Given the description of an element on the screen output the (x, y) to click on. 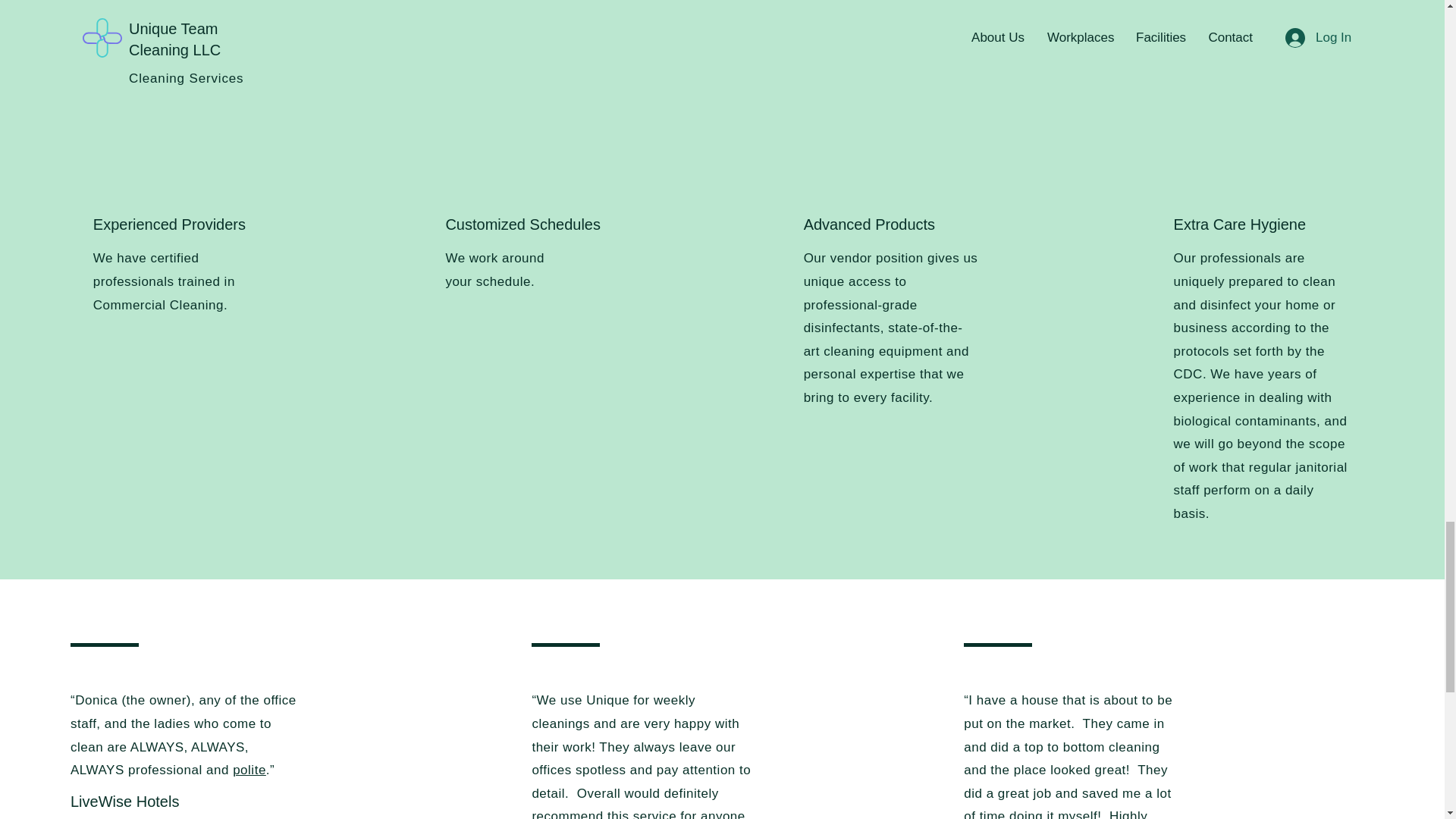
polite (249, 769)
